Given the description of an element on the screen output the (x, y) to click on. 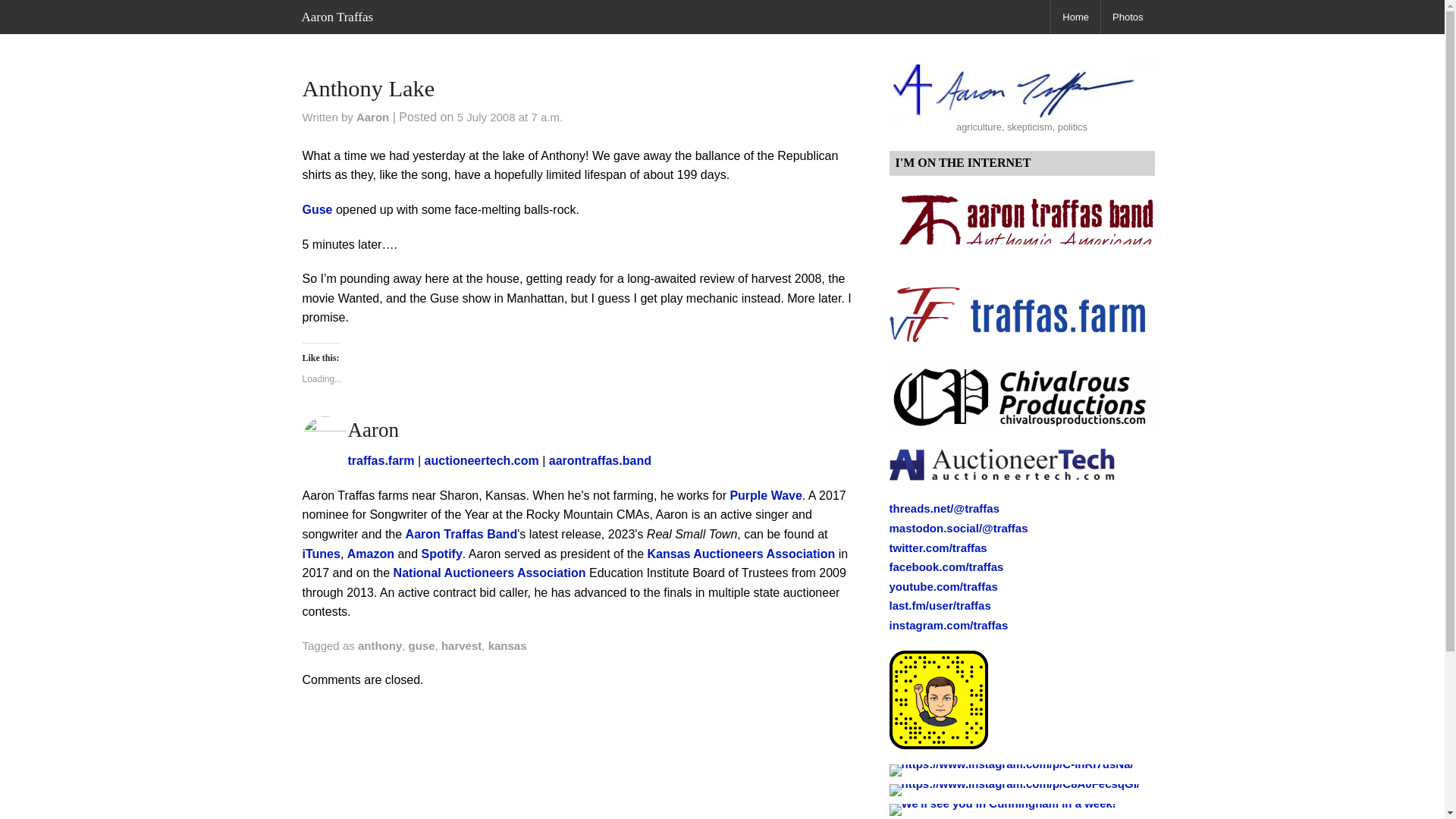
Spotify (442, 553)
National Auctioneers Association (489, 572)
Aaron Traffas (336, 17)
Purple Wave (765, 495)
iTunes (320, 553)
anthony (379, 645)
auctioneertech.com (481, 460)
Amazon (370, 553)
Photos (1127, 17)
kansas (507, 645)
